Given the description of an element on the screen output the (x, y) to click on. 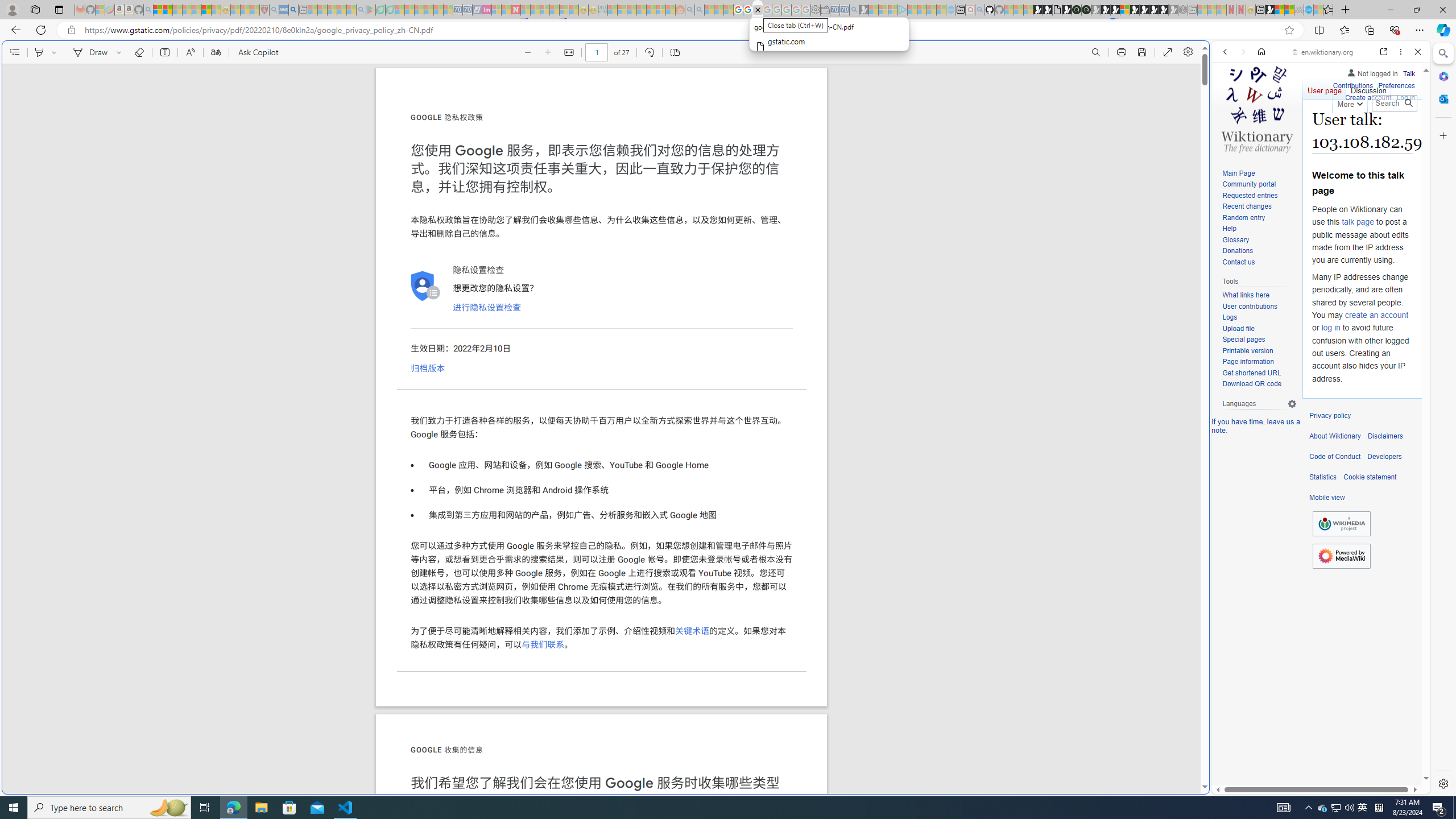
Statistics (1322, 477)
Zoom out (Ctrl+Minus key) (527, 52)
Donations (1237, 250)
Microsoft Start Gaming - Sleeping (863, 9)
list of asthma inhalers uk - Search - Sleeping (273, 9)
Cheap Hotels - Save70.com - Sleeping (467, 9)
Forward (1242, 51)
utah sues federal government - Search (922, 389)
Create account (1367, 98)
Community portal (1259, 184)
Rotate (Ctrl+]) (649, 52)
